Given the description of an element on the screen output the (x, y) to click on. 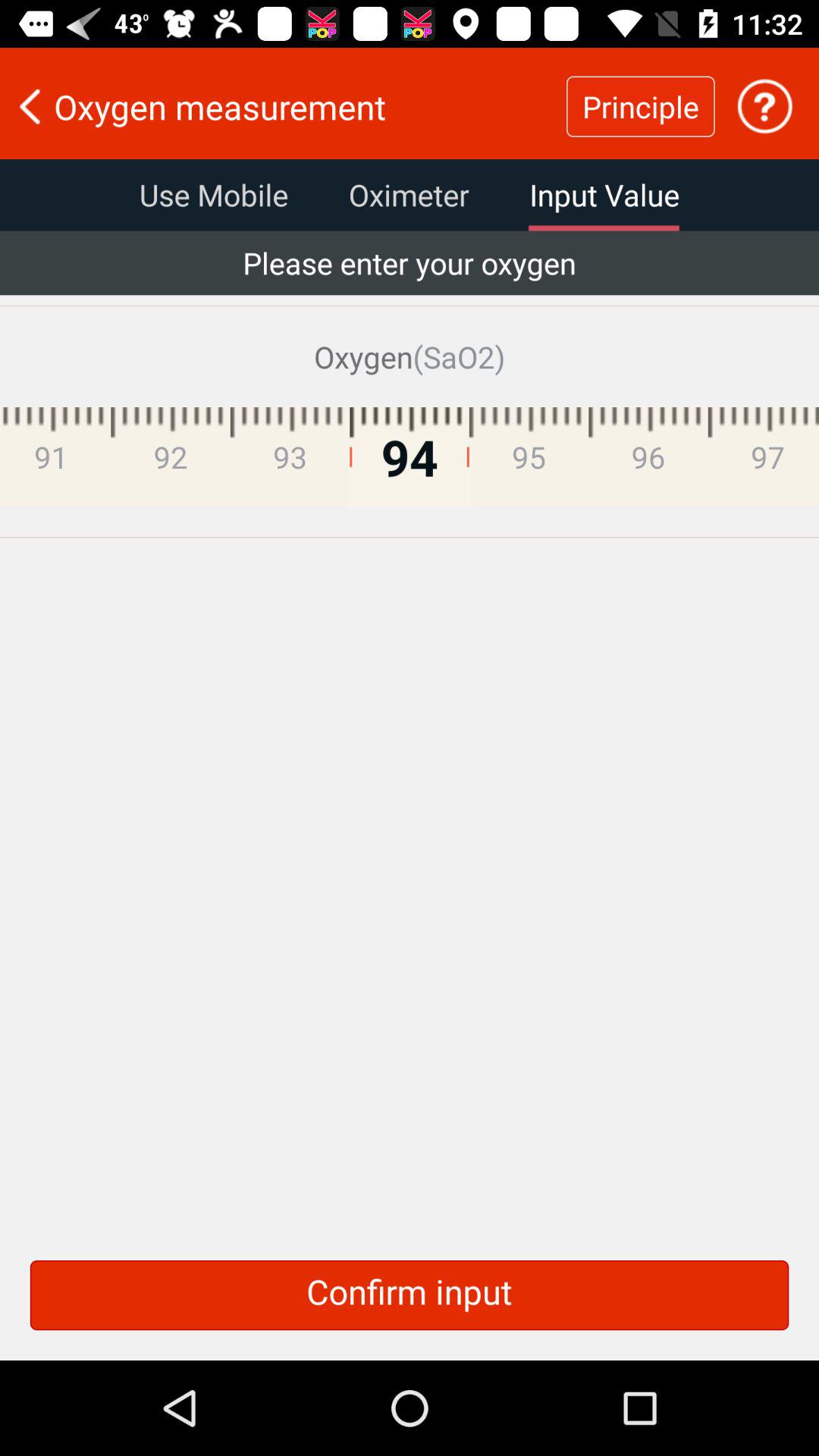
flip to principle icon (640, 106)
